Given the description of an element on the screen output the (x, y) to click on. 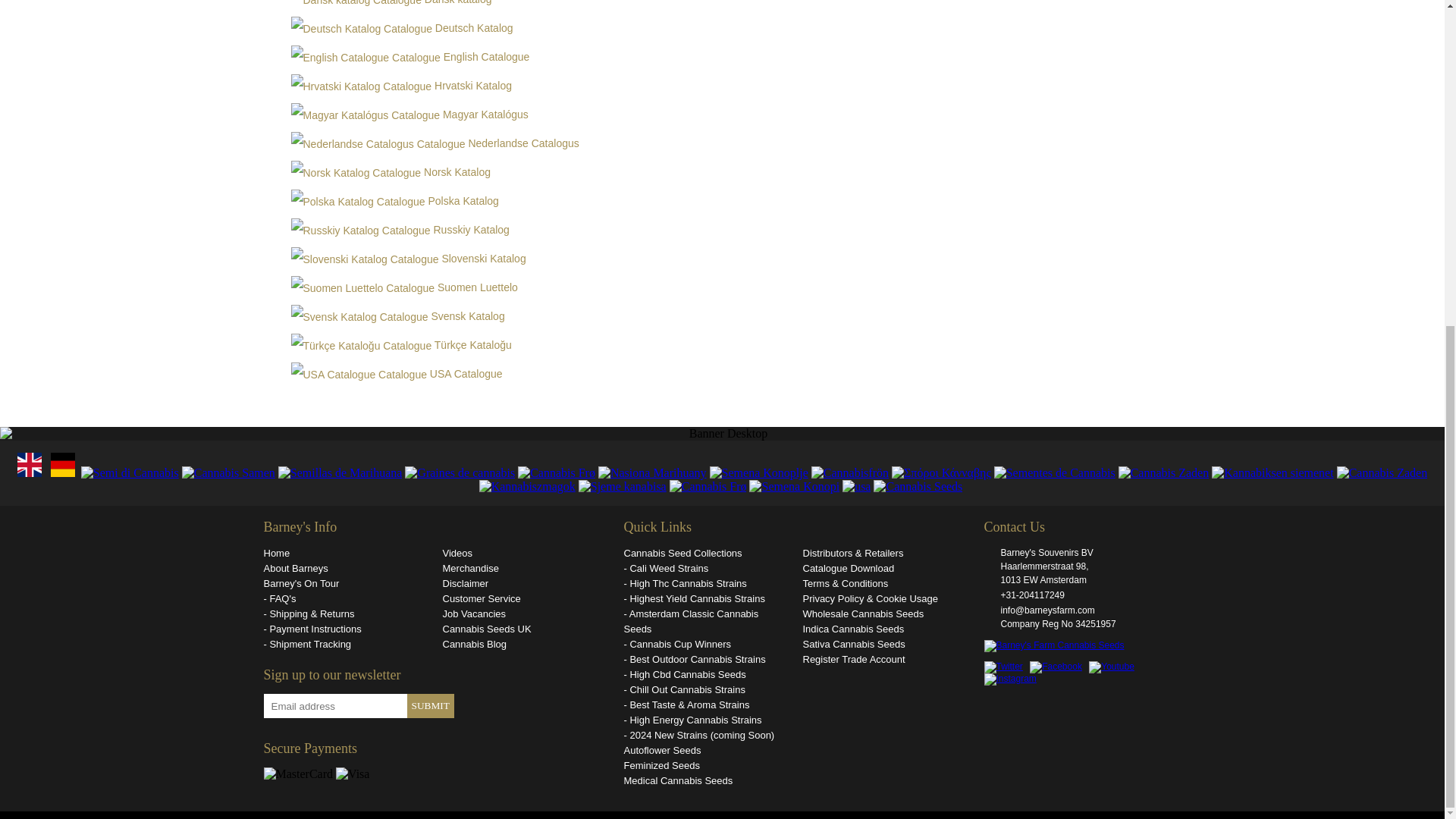
Barneys Farm Videos (521, 553)
Cannabis Seeds (342, 553)
SUBMIT (429, 705)
About Barneys Farm (342, 568)
